Given the description of an element on the screen output the (x, y) to click on. 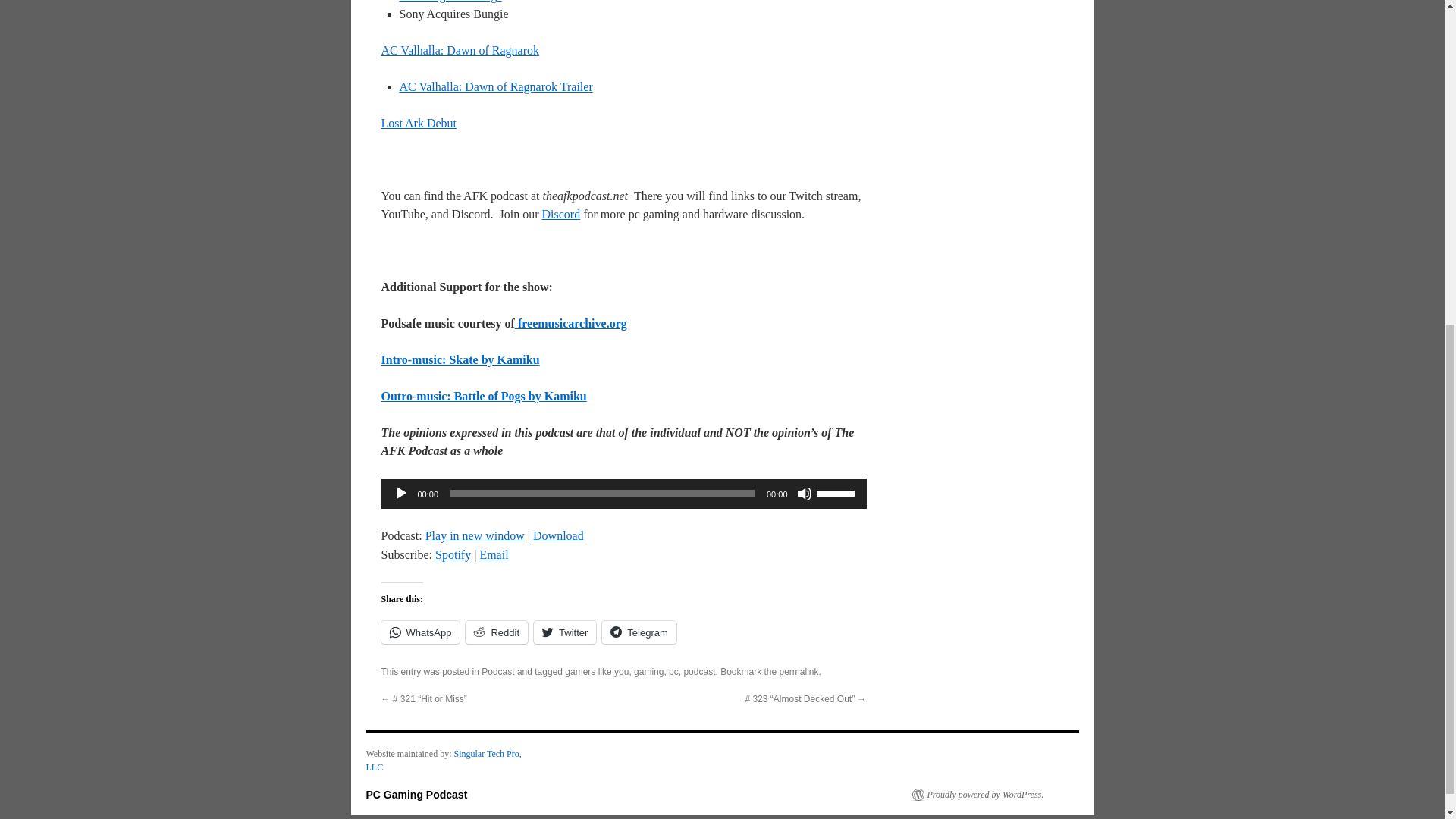
Mute (803, 493)
Reddit (496, 631)
freemusicarchive.org (571, 323)
Play in new window (474, 535)
Click to share on Twitter (564, 631)
Subscribe on Spotify (452, 554)
Download (557, 535)
AC Valhalla: Dawn of Ragnarok (459, 50)
Spotify (452, 554)
Outro-music: Battle of Pogs by Kamiku (483, 395)
Click to share on Reddit (496, 631)
Current game ratings (449, 1)
podcast (698, 671)
Play (400, 493)
Click to share on WhatsApp (420, 631)
